Given the description of an element on the screen output the (x, y) to click on. 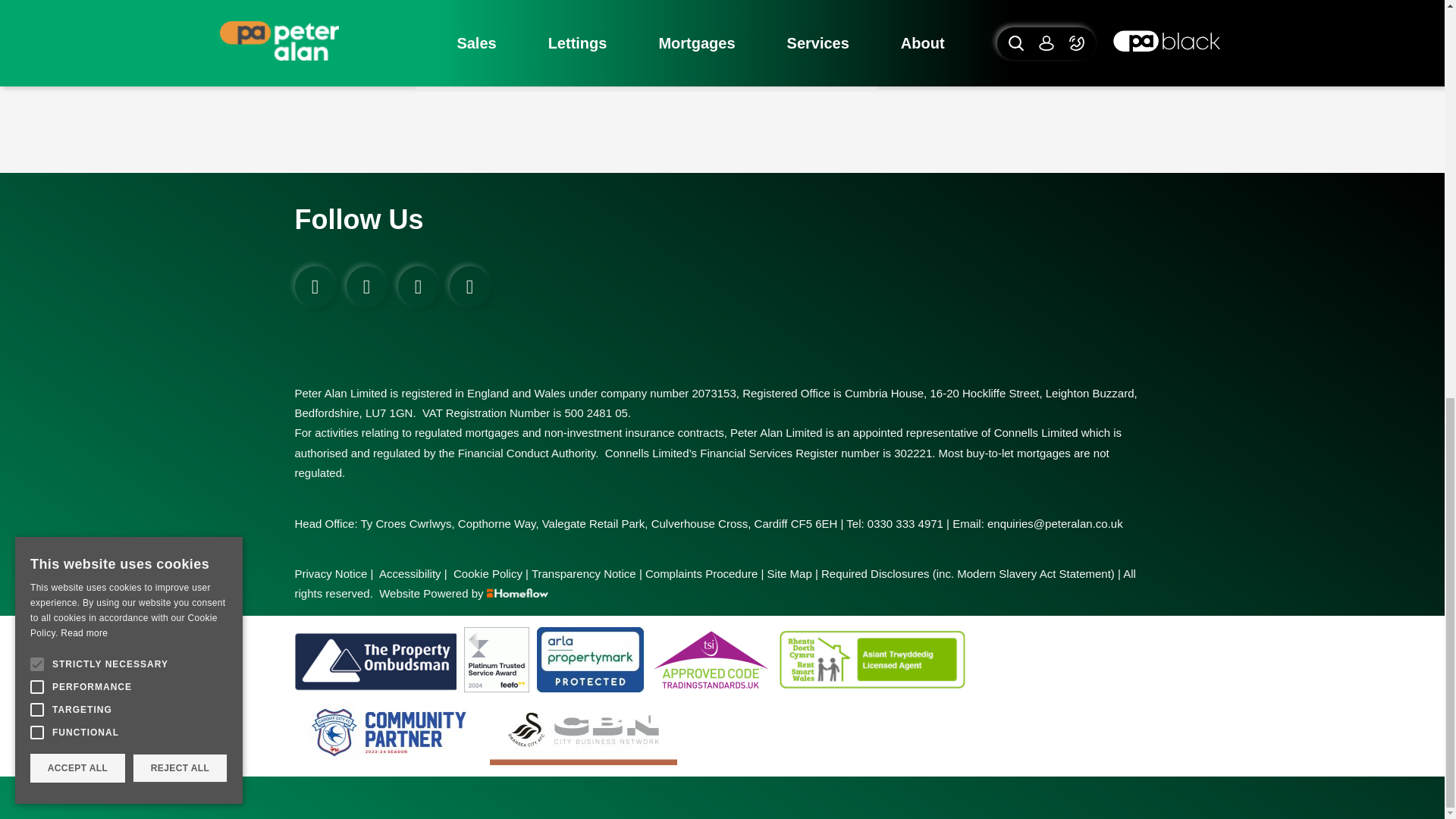
Estate Agency Website (485, 593)
Trading Standards (710, 659)
ARLA (590, 659)
Cardiff City Community Partnership (387, 732)
Swansea Partnership (583, 732)
Feefo Platinum (496, 659)
The Property Ombudsman (374, 659)
RSW (871, 659)
